Given the description of an element on the screen output the (x, y) to click on. 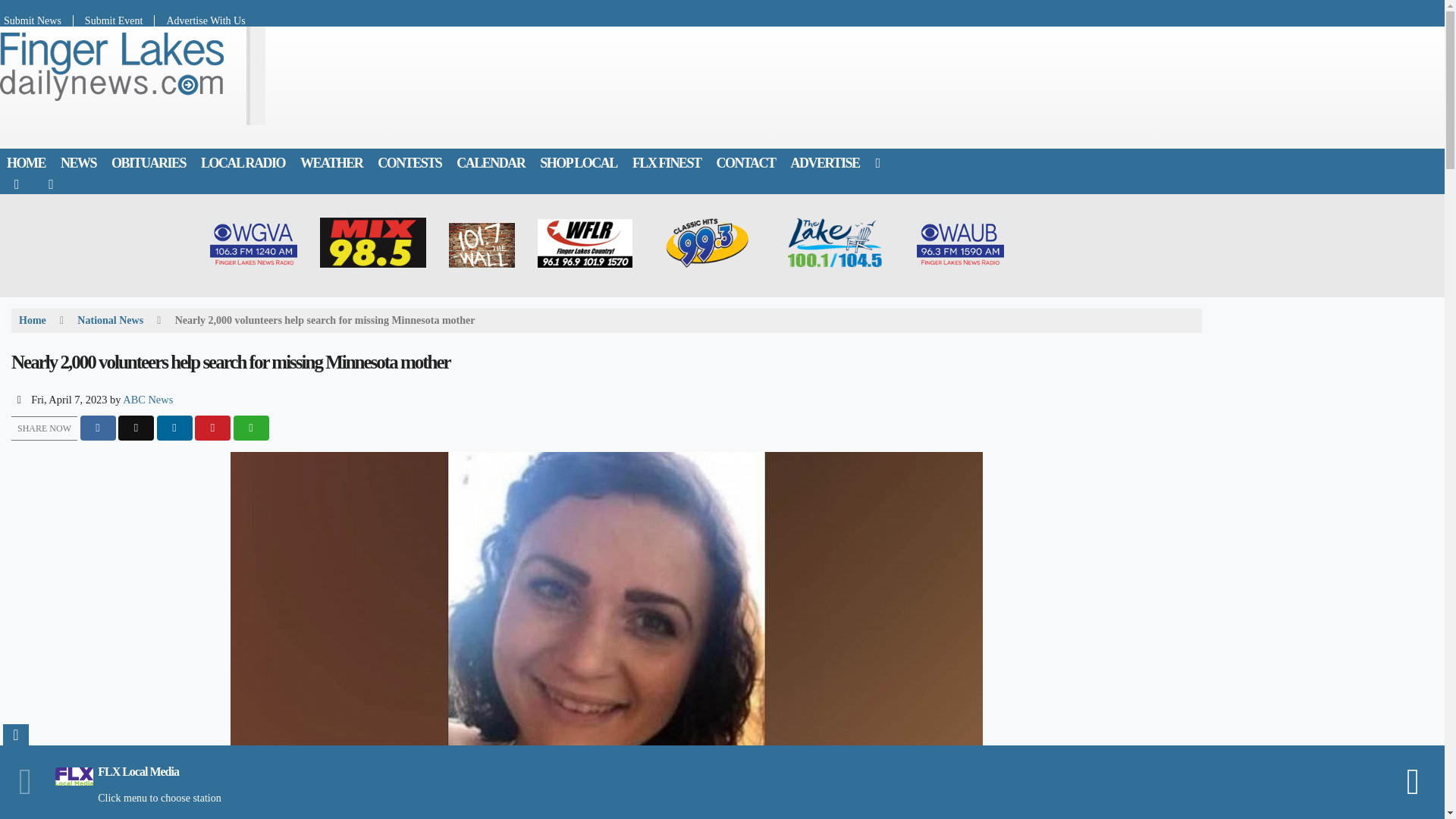
Advertise With Us (199, 20)
Submit News (37, 20)
Follow us on X (50, 183)
Posts by ABC News (147, 399)
Follow us on Facebook (16, 183)
Submit Event (114, 20)
